Given the description of an element on the screen output the (x, y) to click on. 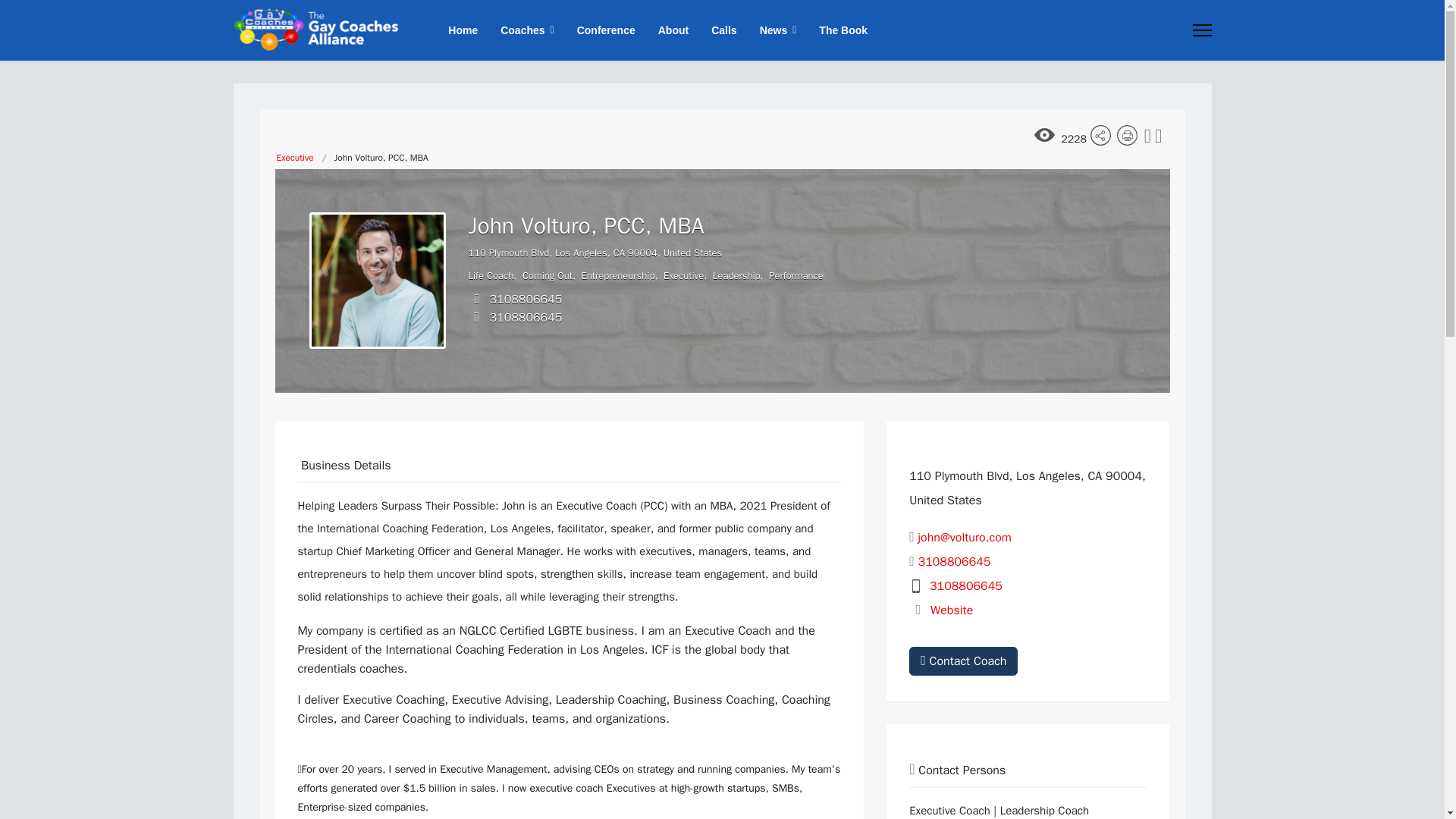
Life Coach (490, 275)
Leadership (736, 275)
Executive (294, 157)
Coming Out (547, 275)
The Book (837, 30)
Executive (683, 275)
Conference (606, 30)
3108806645 (525, 317)
Performance (795, 275)
John Volturo, PCC, MBA Website (951, 610)
